Given the description of an element on the screen output the (x, y) to click on. 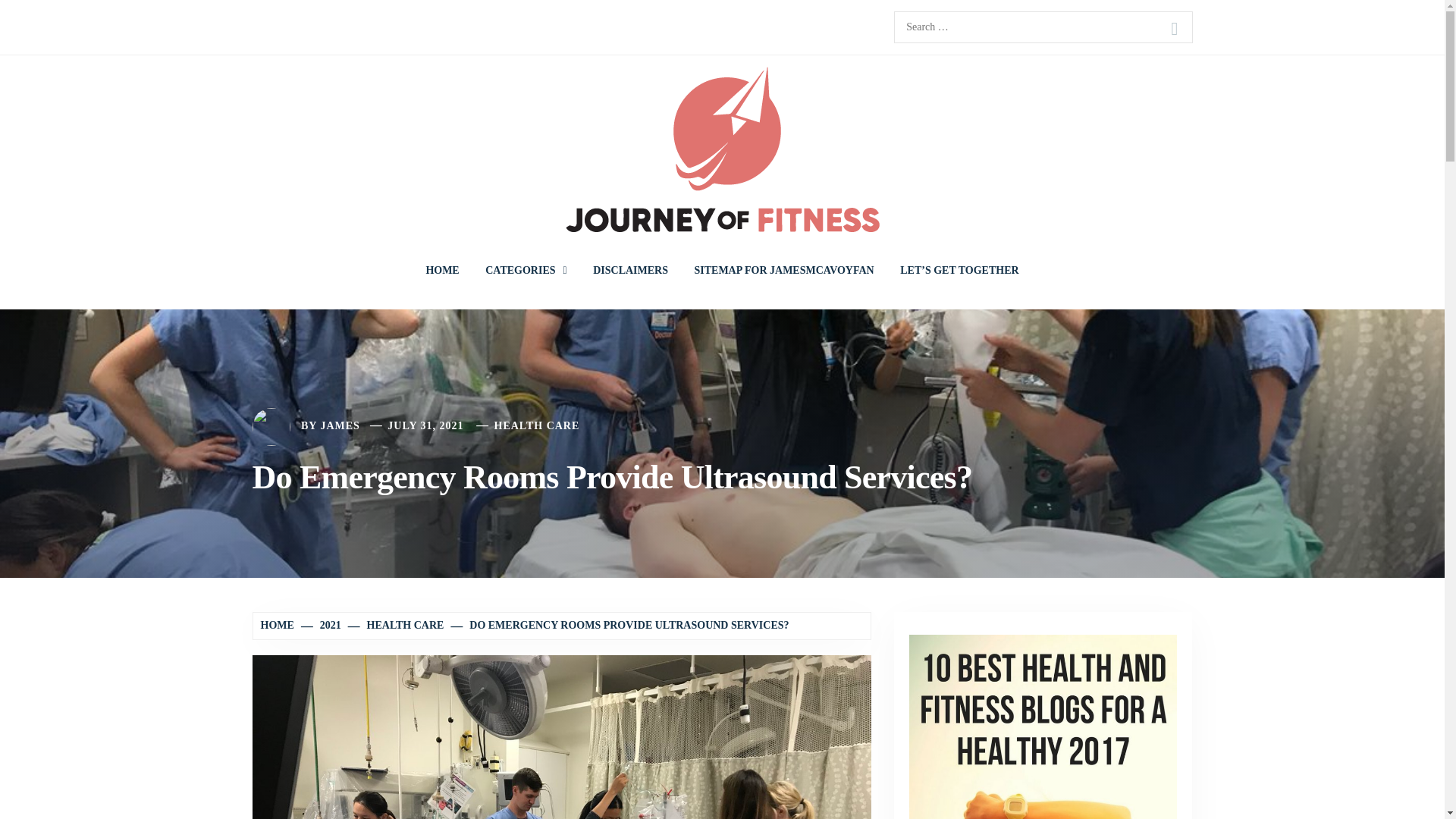
DO EMERGENCY ROOMS PROVIDE ULTRASOUND SERVICES? (620, 624)
SITEMAP FOR JAMESMCAVOYFAN (783, 270)
JAMES (339, 425)
HEALTH CARE (537, 425)
Search (1174, 28)
HOME (441, 270)
HEALTH CARE (397, 624)
DISCLAIMERS (629, 270)
Search (1174, 28)
HOME (279, 624)
CATEGORIES (526, 270)
Search (1174, 28)
2021 (322, 624)
JULY 31, 2021 (425, 425)
